Given the description of an element on the screen output the (x, y) to click on. 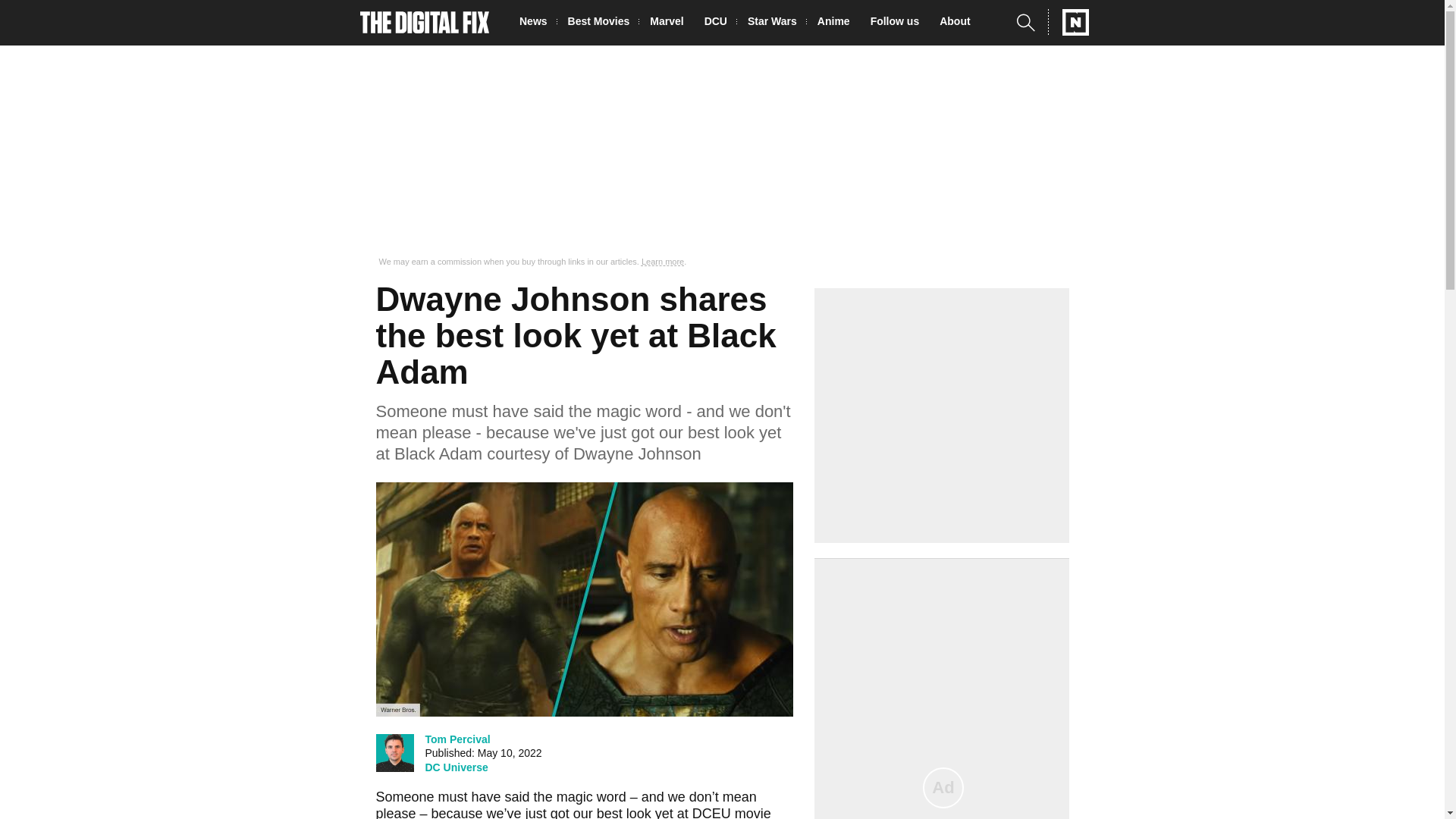
DC Universe (456, 767)
Learn more (663, 261)
Star Wars (777, 22)
Best Movies (603, 22)
Marvel Cinematic Universe News (671, 22)
Anime News (837, 22)
Tom Percival (457, 739)
Network N Media (1068, 22)
Follow us (899, 22)
Star Wars News (777, 22)
